Given the description of an element on the screen output the (x, y) to click on. 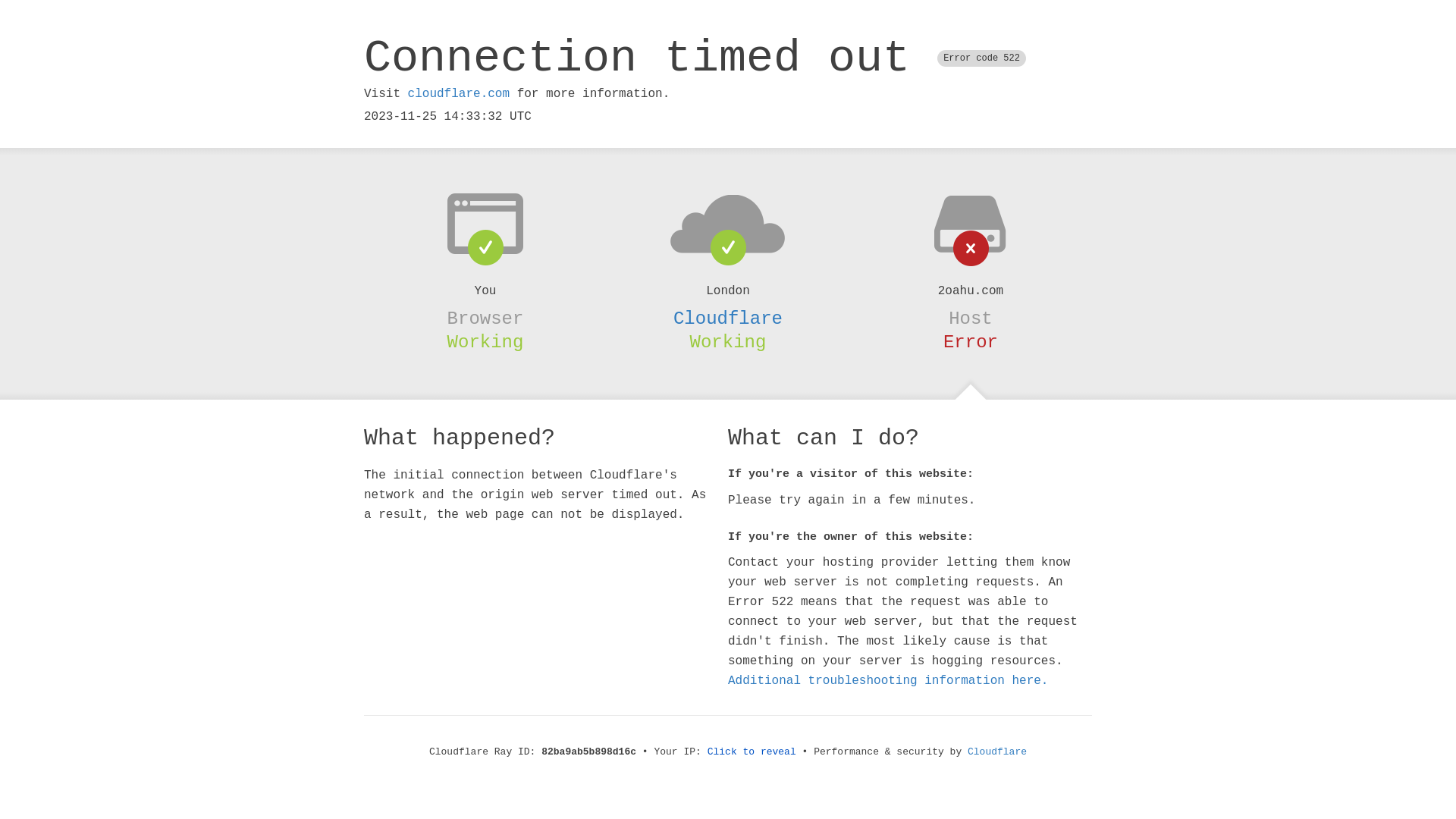
Cloudflare Element type: text (996, 751)
Cloudflare Element type: text (727, 318)
cloudflare.com Element type: text (458, 93)
Additional troubleshooting information here. Element type: text (888, 680)
Click to reveal Element type: text (751, 751)
